Given the description of an element on the screen output the (x, y) to click on. 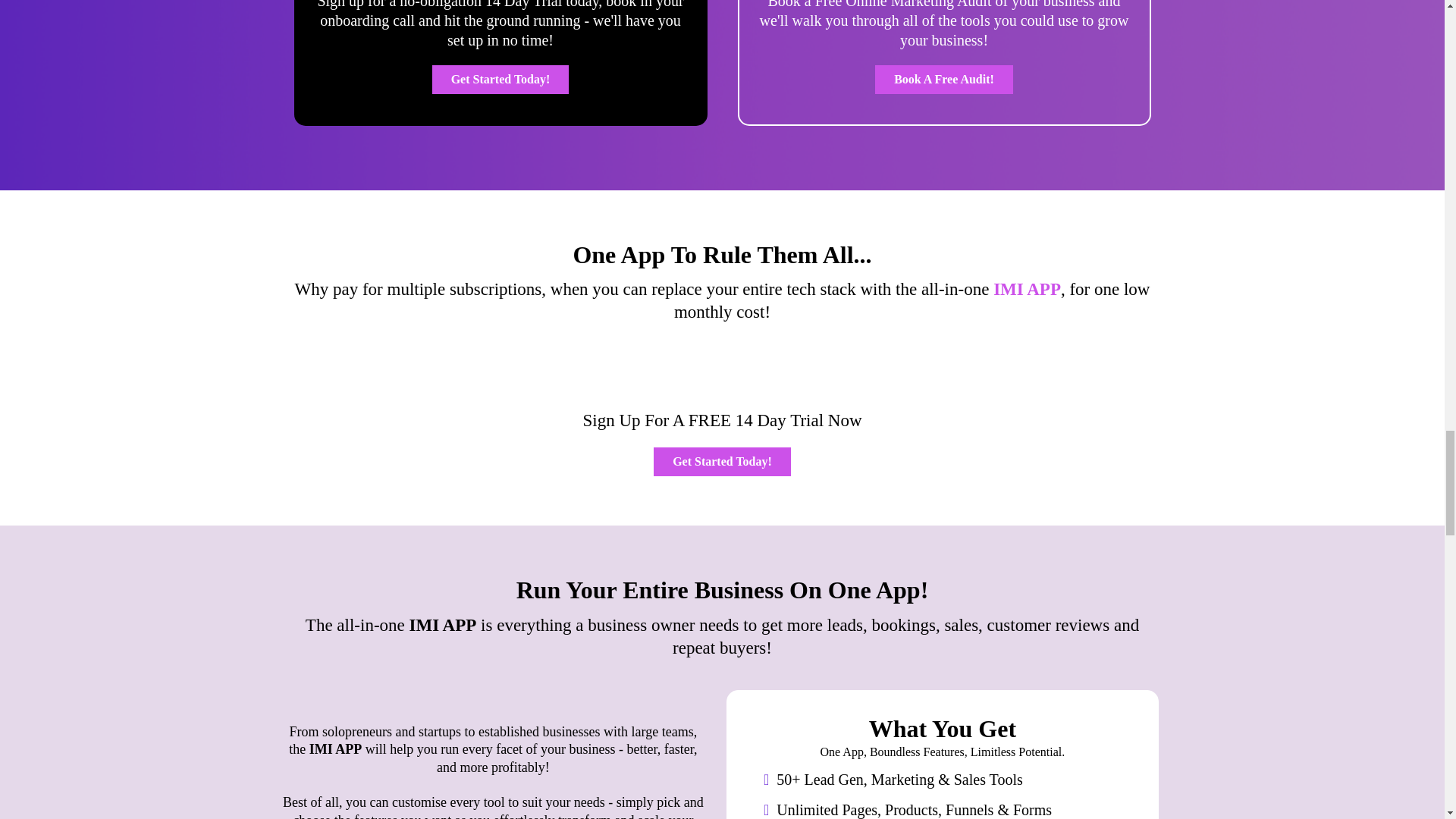
Get Started Today! (721, 461)
Get Started Today! (500, 79)
Book A Free Audit! (944, 79)
